Given the description of an element on the screen output the (x, y) to click on. 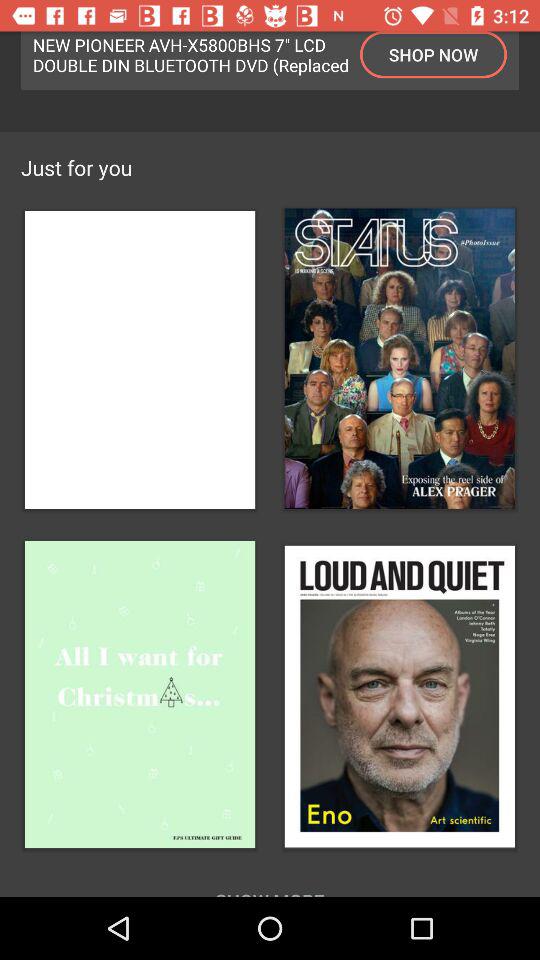
open show more item (270, 879)
